Given the description of an element on the screen output the (x, y) to click on. 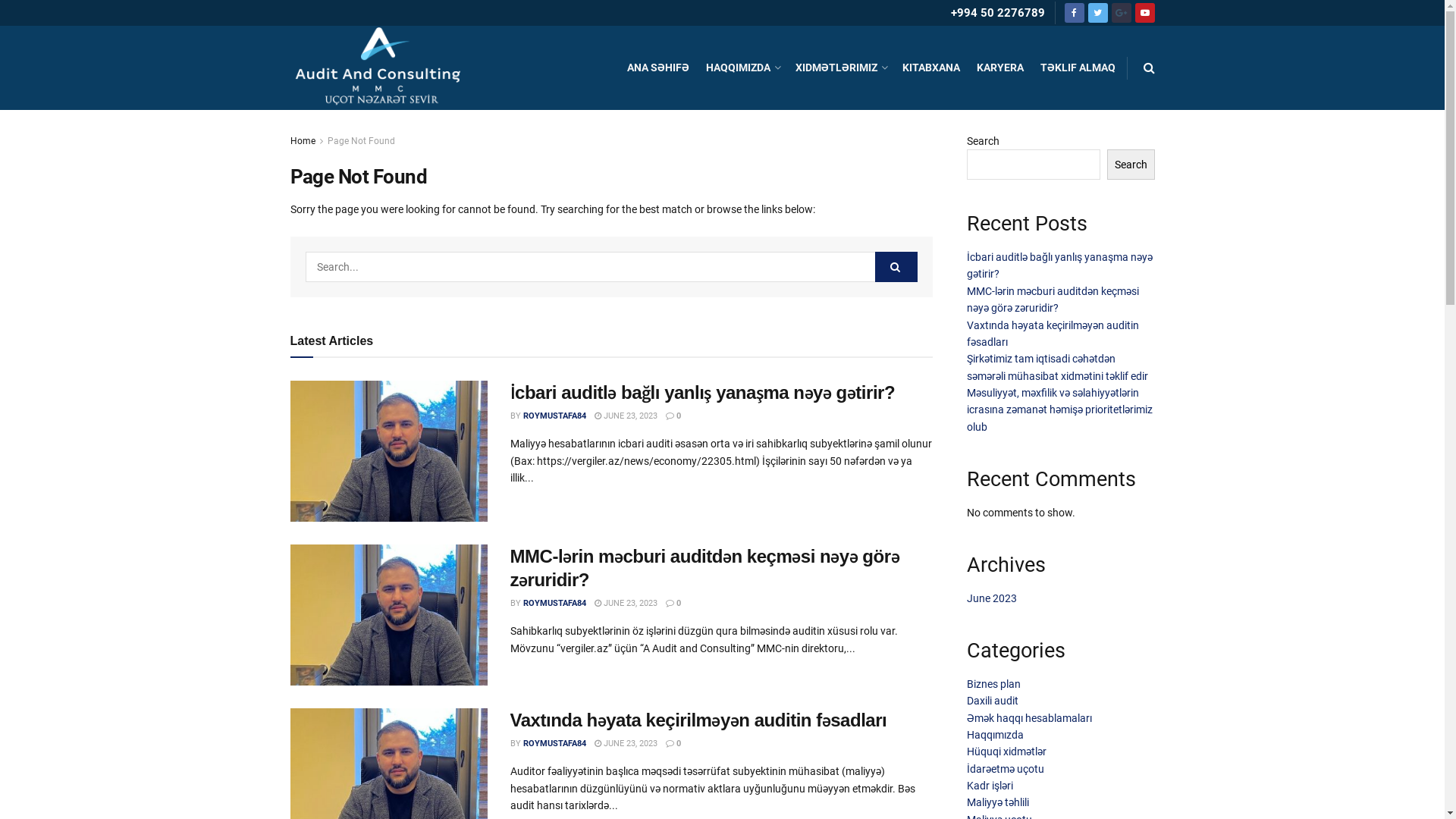
JUNE 23, 2023 Element type: text (625, 743)
JUNE 23, 2023 Element type: text (625, 603)
JUNE 23, 2023 Element type: text (625, 415)
Biznes plan Element type: text (993, 683)
ROYMUSTAFA84 Element type: text (554, 743)
Search Element type: text (1130, 164)
ROYMUSTAFA84 Element type: text (554, 415)
0 Element type: text (672, 415)
0 Element type: text (672, 603)
ROYMUSTAFA84 Element type: text (554, 603)
HAQQIMIZDA Element type: text (741, 67)
KITABXANA Element type: text (931, 67)
Page Not Found Element type: text (361, 140)
June 2023 Element type: text (991, 598)
Home Element type: text (301, 140)
+994 50 2276789 Element type: text (997, 12)
Daxili audit Element type: text (992, 700)
0 Element type: text (672, 743)
KARYERA Element type: text (999, 67)
